Given the description of an element on the screen output the (x, y) to click on. 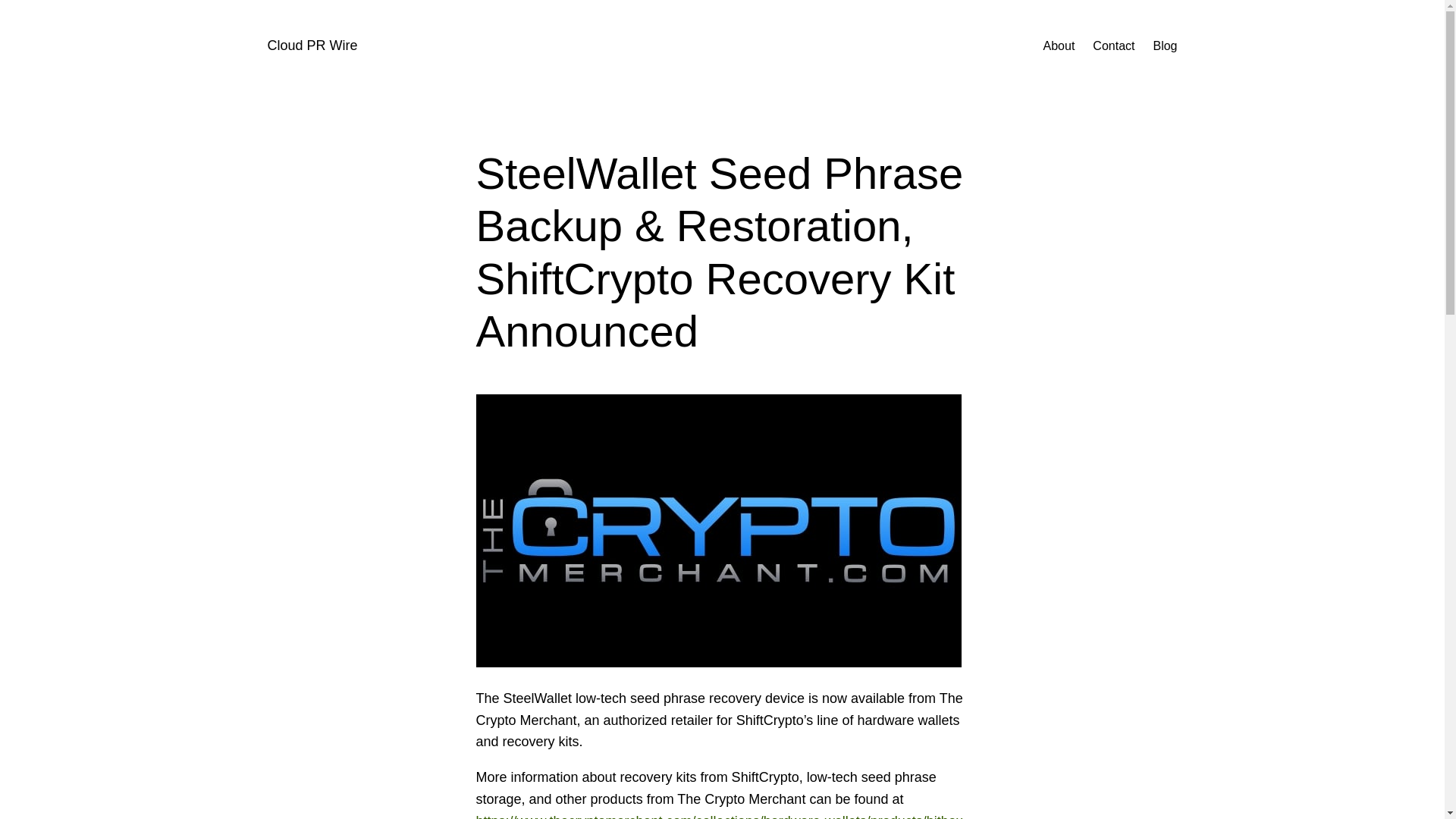
Contact (1113, 46)
Cloud PR Wire (311, 45)
Blog (1164, 46)
About (1059, 46)
